Given the description of an element on the screen output the (x, y) to click on. 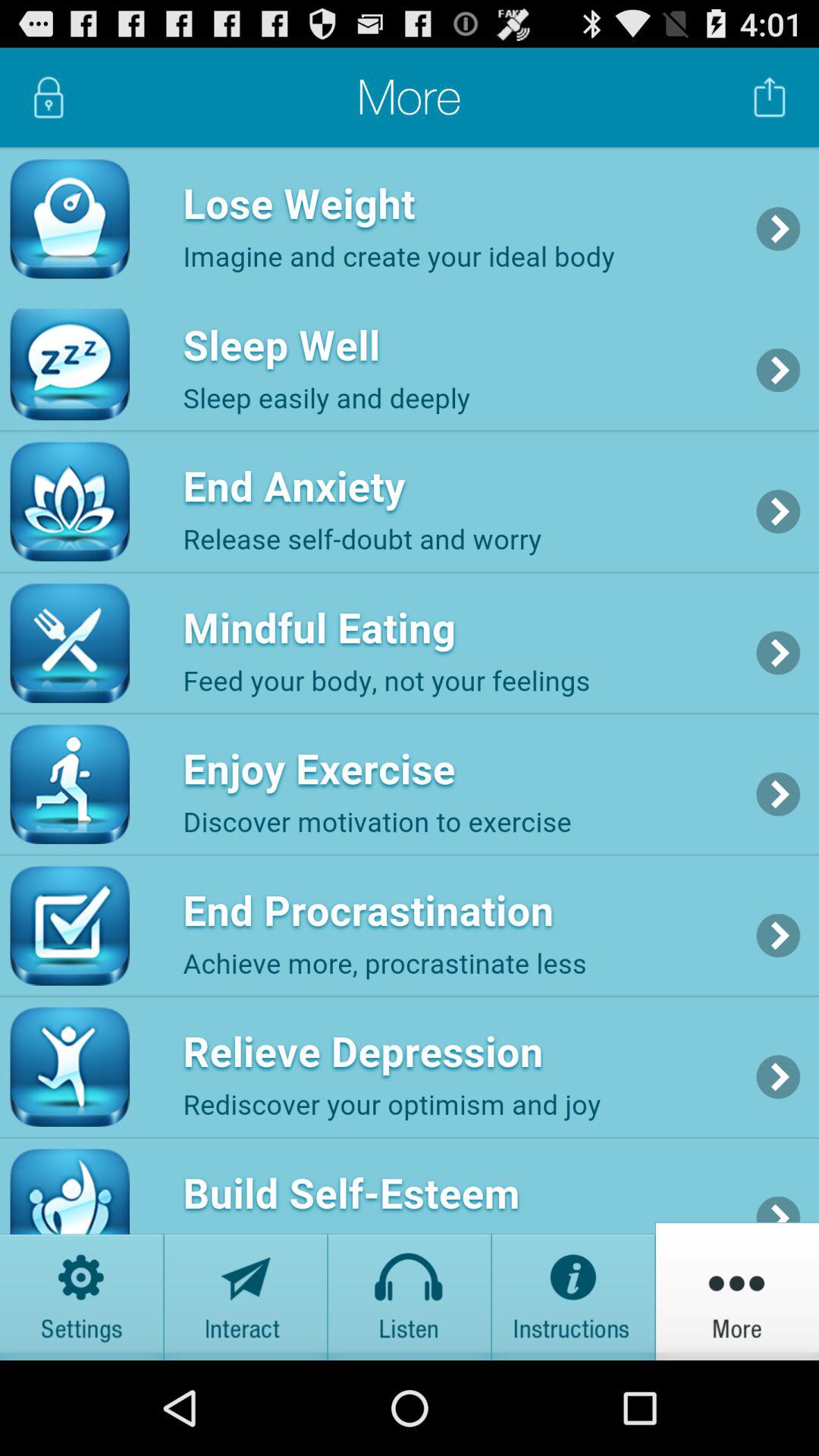
configuration (81, 1290)
